Given the description of an element on the screen output the (x, y) to click on. 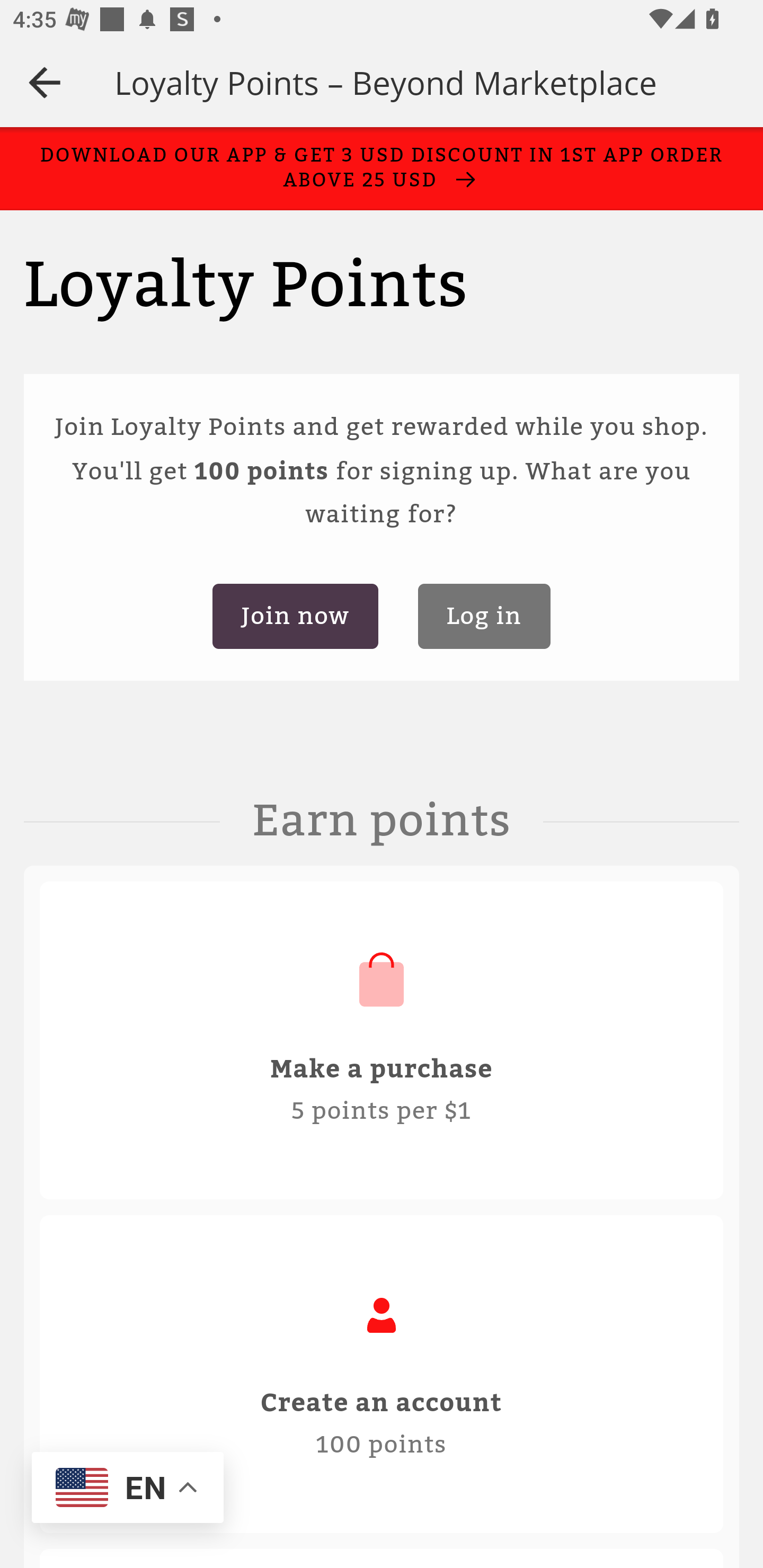
Navigate up (44, 82)
Join now (294, 616)
Log in (483, 616)
